Given the description of an element on the screen output the (x, y) to click on. 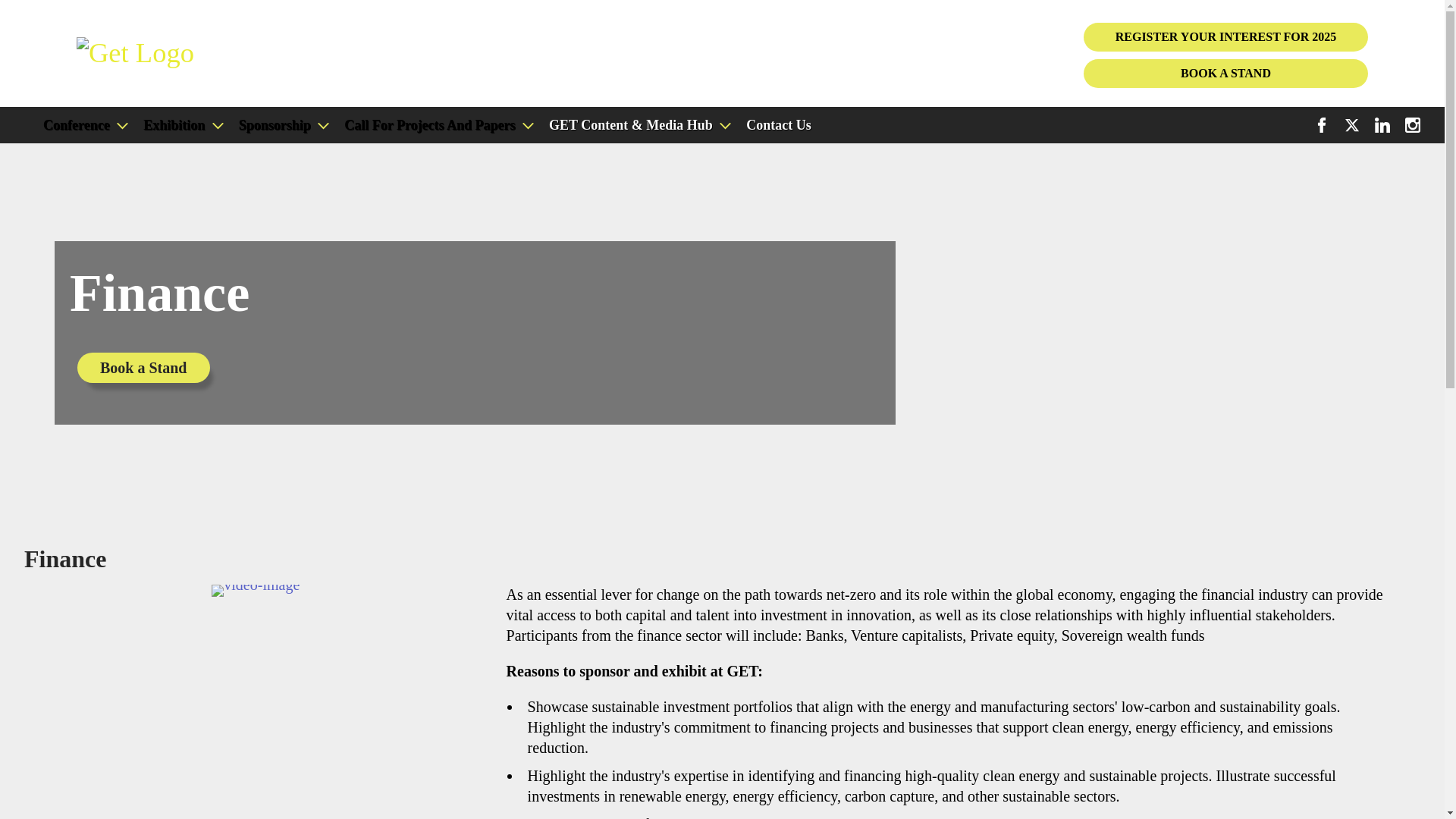
Call For Projects And Papers (436, 124)
Conference (83, 124)
Exhibition (180, 124)
REGISTER YOUR INTEREST FOR 2025 (1225, 36)
BOOK A STAND (1225, 72)
Sponsorship (282, 124)
